Given the description of an element on the screen output the (x, y) to click on. 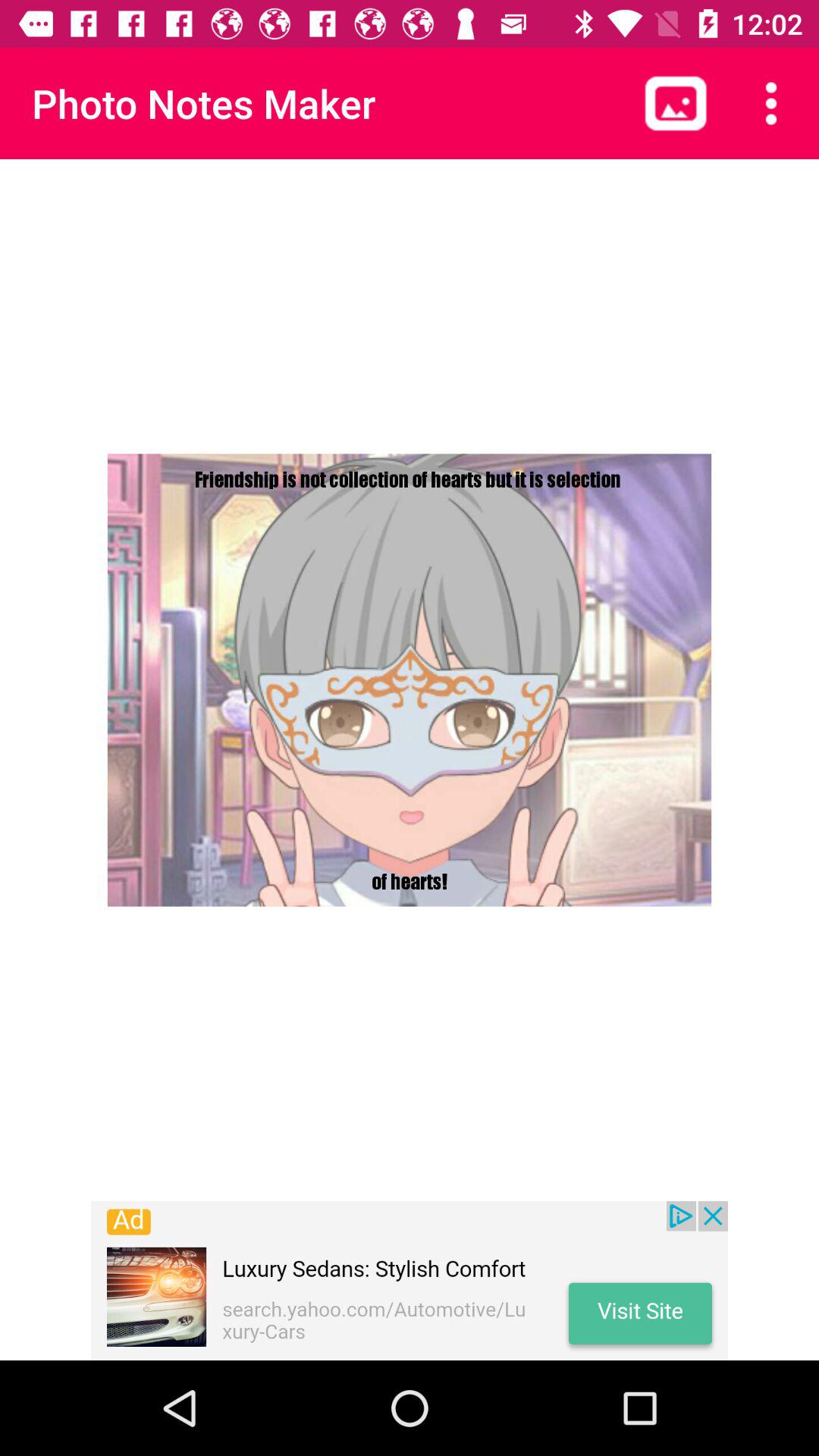
menu icon (771, 103)
